Given the description of an element on the screen output the (x, y) to click on. 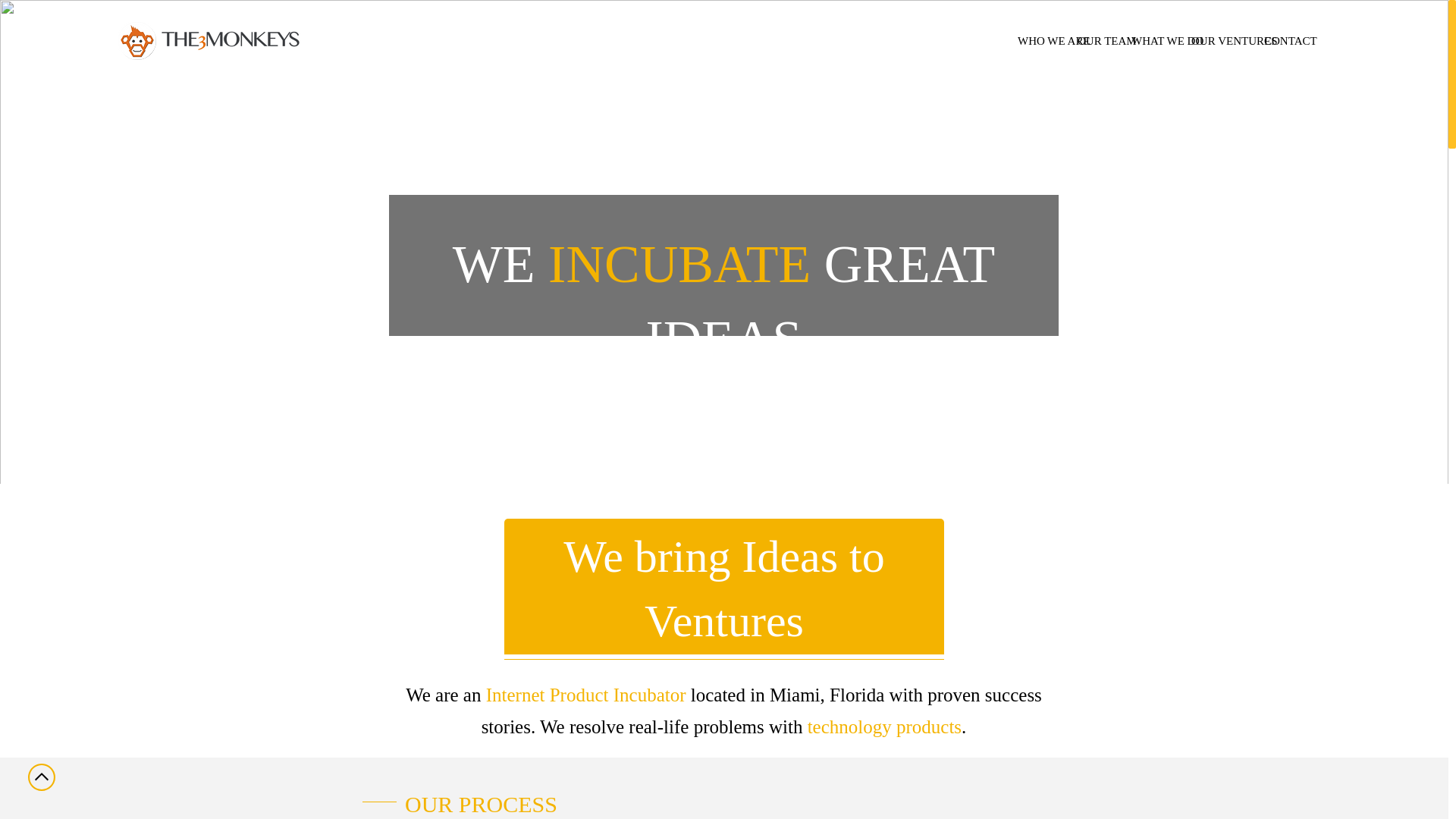
WHAT WE DO (1153, 40)
WHO WE ARE (1040, 40)
CONTACT (1281, 40)
Logo-Web.png (230, 40)
OUR TEAM (1097, 40)
OUR VENTURES (1219, 40)
